Given the description of an element on the screen output the (x, y) to click on. 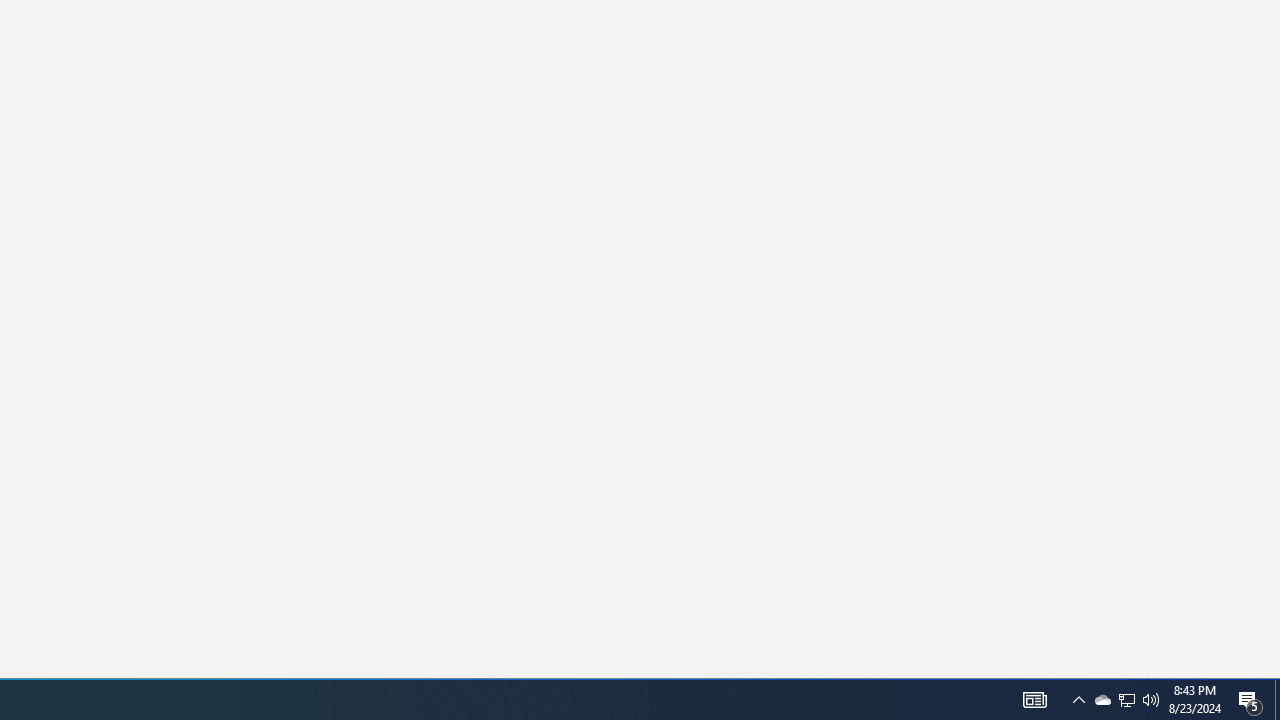
User Promoted Notification Area (1102, 699)
AutomationID: 4105 (1126, 699)
Notification Chevron (1126, 699)
Action Center, 5 new notifications (1034, 699)
Q2790: 100% (1078, 699)
Show desktop (1250, 699)
